Given the description of an element on the screen output the (x, y) to click on. 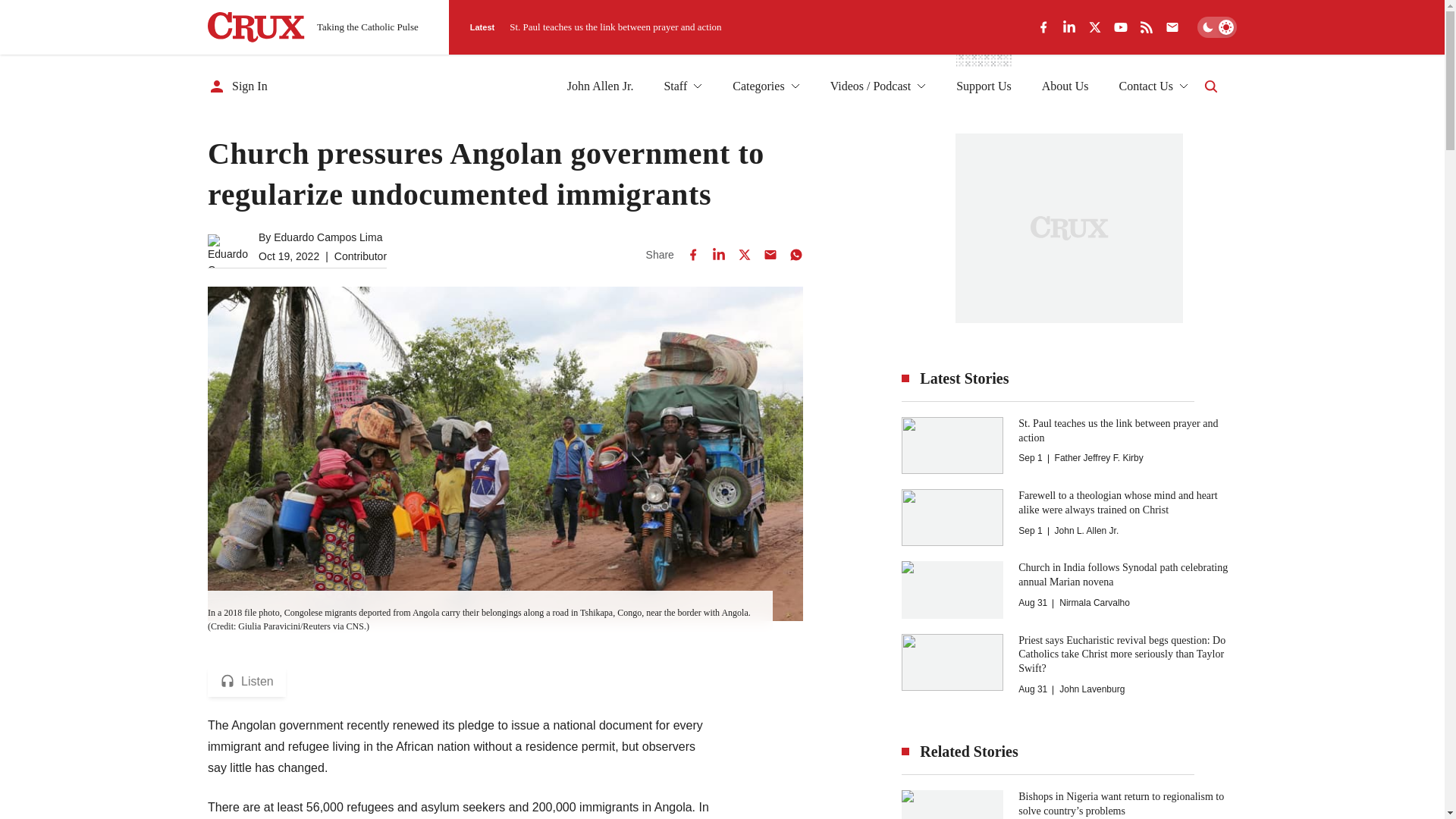
John Allen Jr. (600, 85)
About Us (1065, 85)
Categories (765, 85)
St. Paul teaches us the link between prayer and action (614, 27)
Support Us (983, 85)
Contact Us (1153, 85)
Staff (682, 85)
Sign In (237, 85)
